Given the description of an element on the screen output the (x, y) to click on. 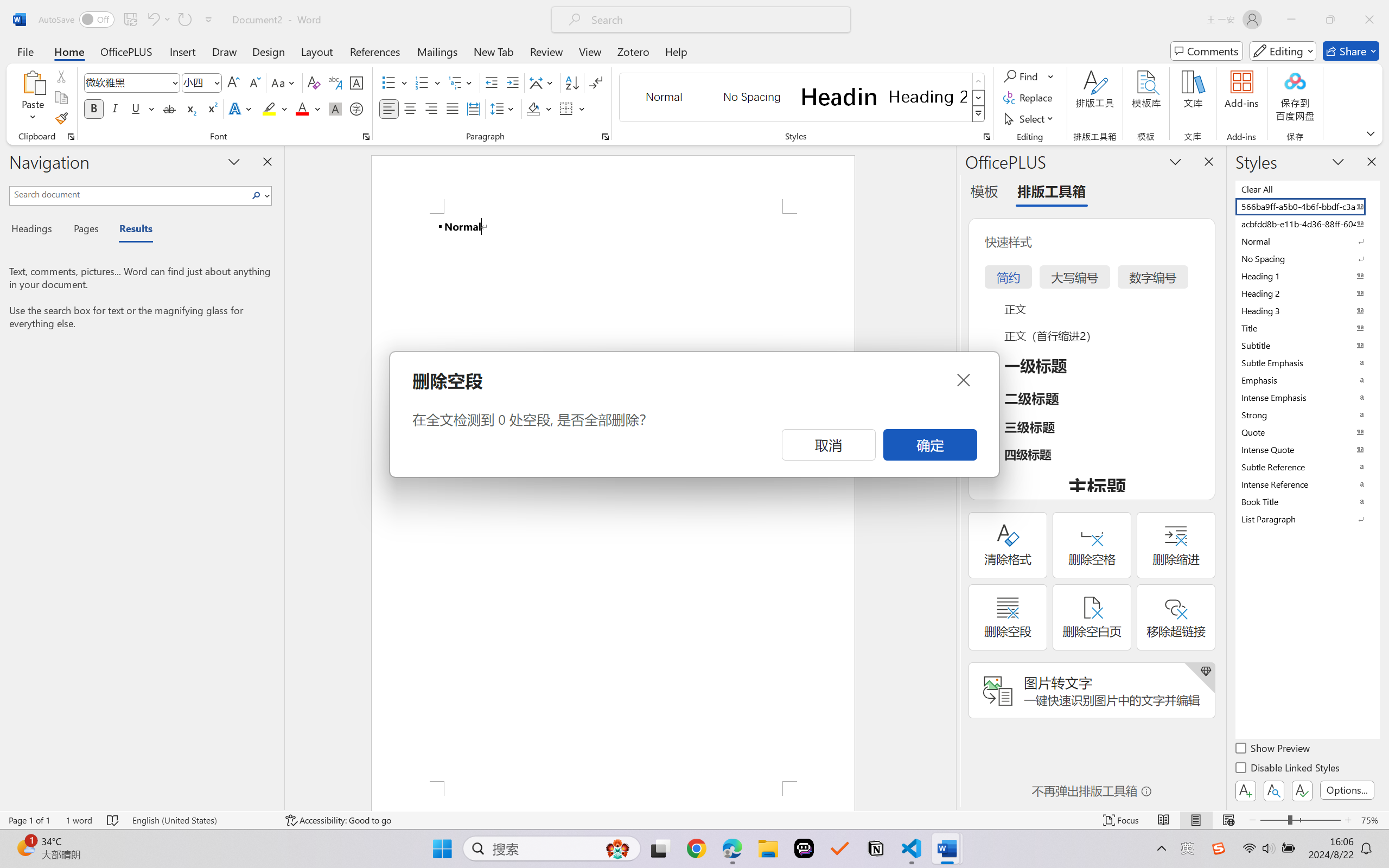
OfficePLUS (126, 51)
Share (1350, 51)
Web Layout (1228, 819)
Accessibility Checker Accessibility: Good to go (338, 819)
Distributed (473, 108)
Find (1022, 75)
Asian Layout (542, 82)
Subtitle (1306, 345)
Subtle Reference (1306, 466)
Superscript (210, 108)
Repeat Doc Close (184, 19)
Show/Hide Editing Marks (595, 82)
